Given the description of an element on the screen output the (x, y) to click on. 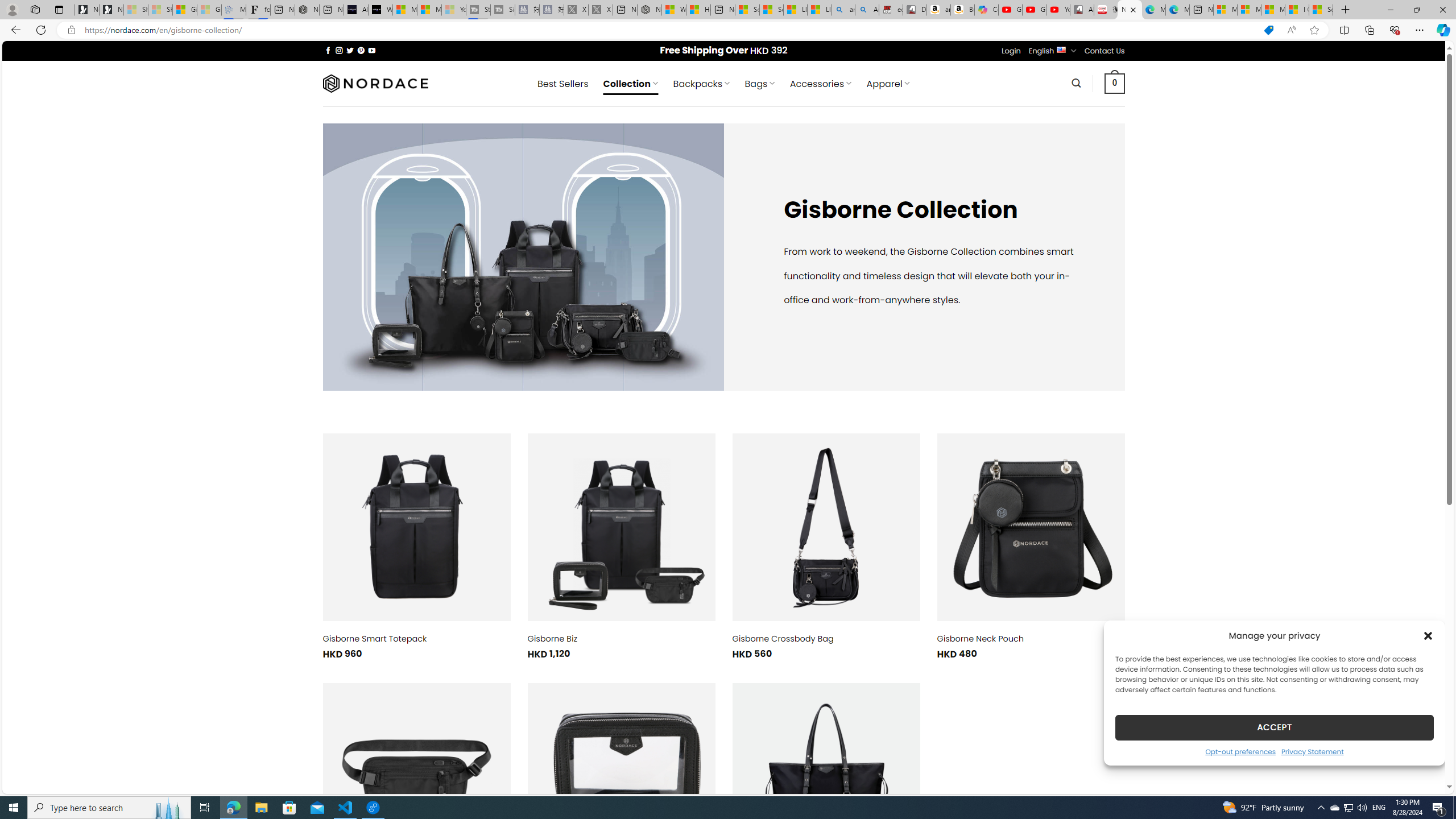
 Best Sellers (562, 83)
